Given the description of an element on the screen output the (x, y) to click on. 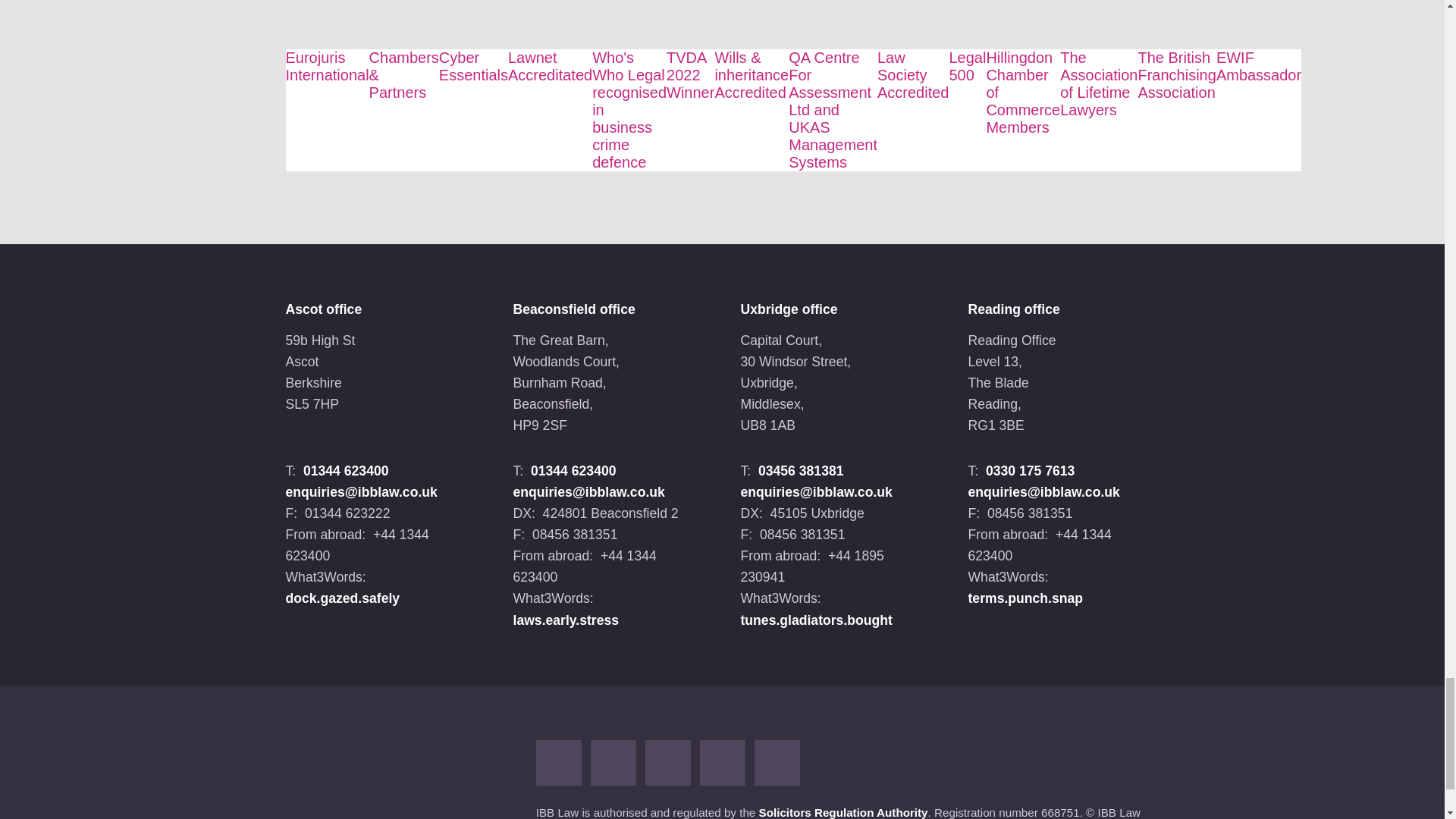
Who's Who Legal recognised in business crime defence (629, 109)
Law Society Accredited (913, 74)
Eurojuris International (326, 66)
The Association of Lifetime Lawyers (1098, 83)
QA Centre For Assessment Ltd and UKAS Management Systems (833, 109)
Hillingdon Chamber of Commerce Members (1022, 92)
Cyber Essentials (473, 66)
The British Franchising Association  (1176, 74)
Legal 500 (967, 66)
TVDA 2022 Winner (690, 74)
EWIF Ambassador  (1258, 66)
Lawnet Accreditated (550, 66)
